Given the description of an element on the screen output the (x, y) to click on. 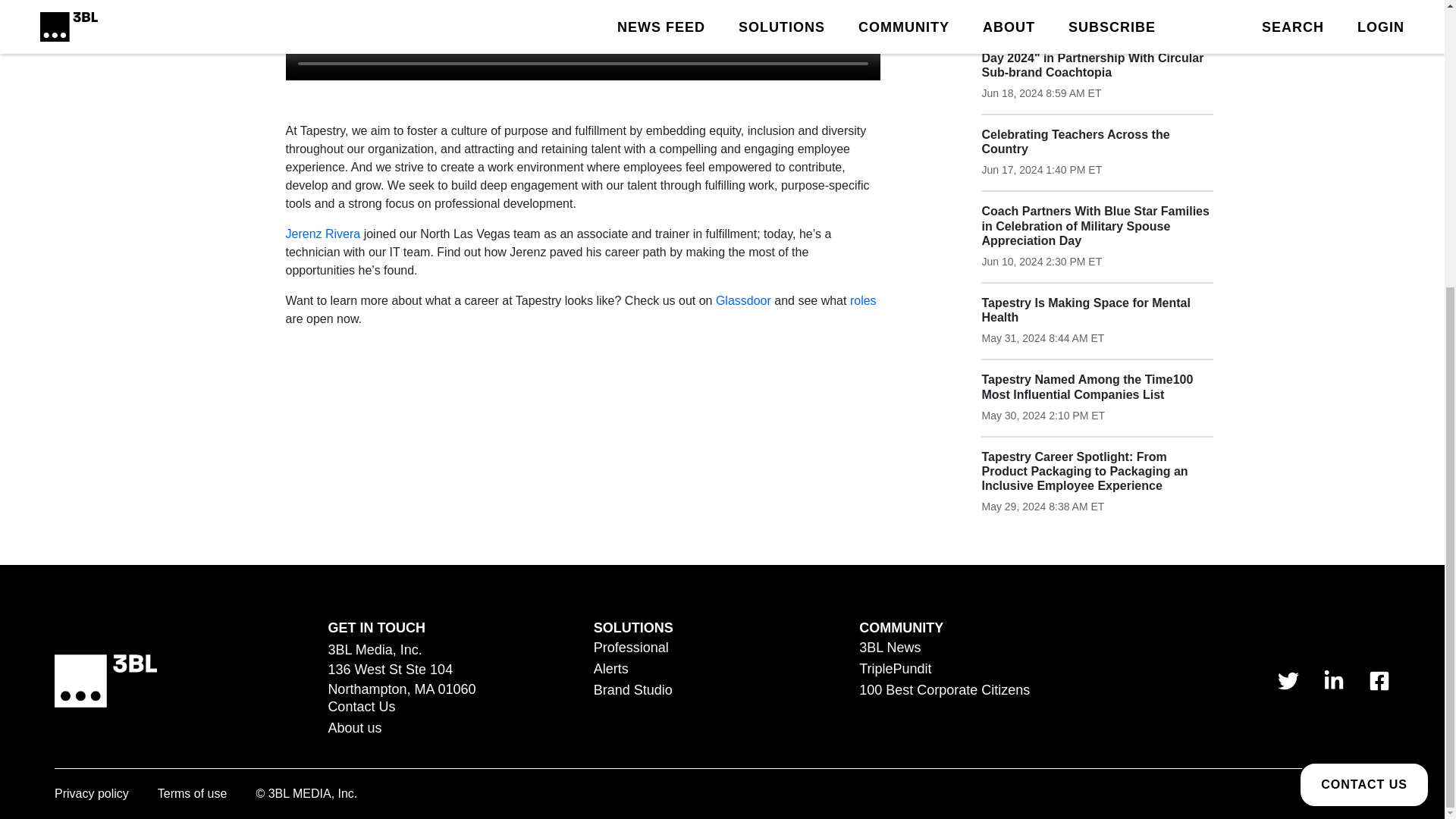
link to 3 B L Media's Twitter (1288, 680)
link to 3 B L Media's Linkedin (1333, 680)
link to 3 B L Media's Facebook (1379, 680)
